Given the description of an element on the screen output the (x, y) to click on. 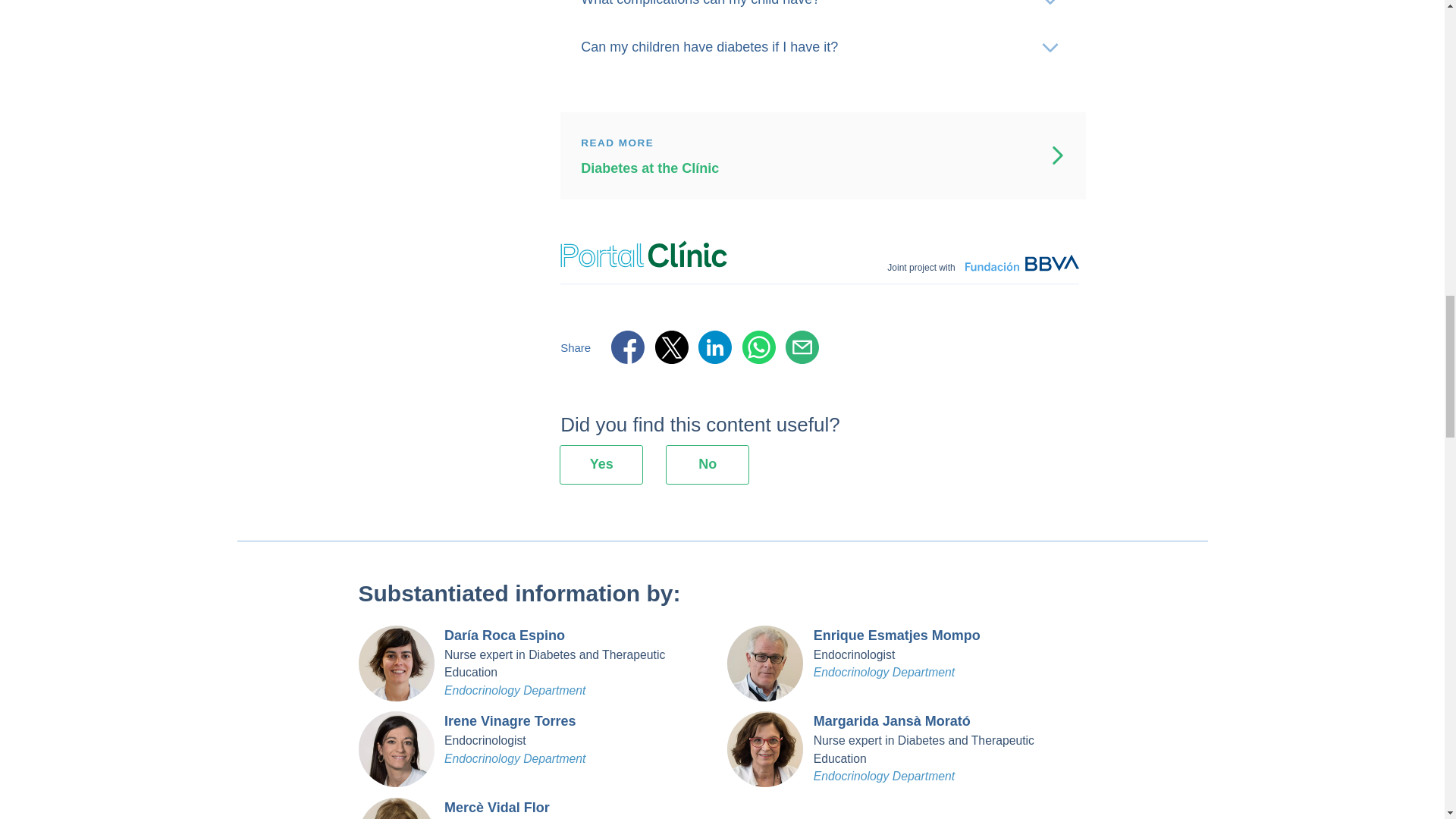
Share LinkedIn (715, 346)
Share Twitter (671, 346)
Share Whatsapp (759, 346)
Share Facebook (628, 346)
Share e-Mail (802, 346)
